Given the description of an element on the screen output the (x, y) to click on. 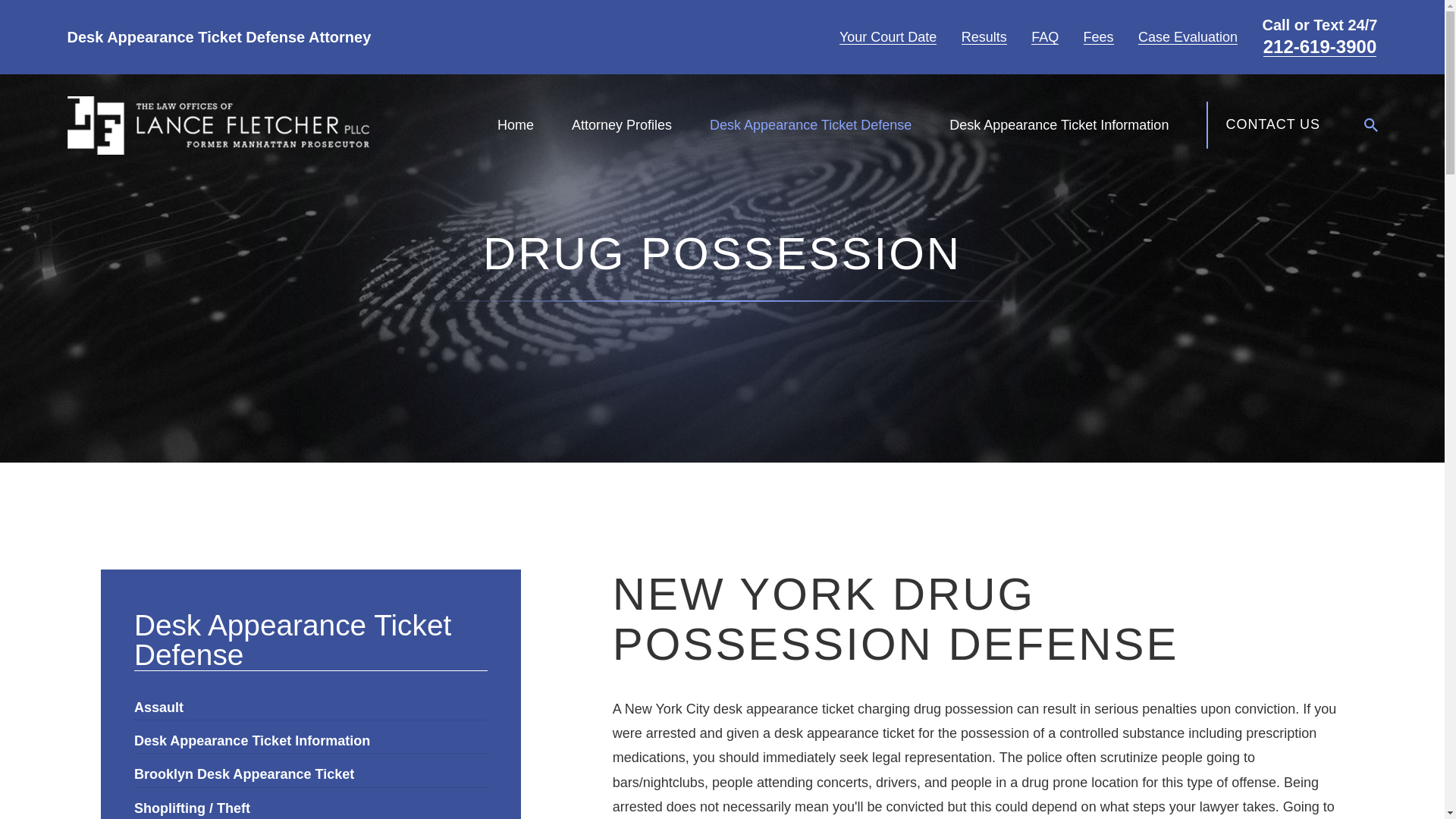
Desk Appearance Ticket Information (1059, 124)
Home (515, 124)
Your Court Date (888, 37)
Case Evaluation (1187, 37)
Attorney Profiles (621, 124)
212-619-3900 (1320, 46)
Desk Appearance Ticket Defense (810, 124)
FAQ (1044, 37)
Fees (1098, 37)
Results (983, 37)
Home (217, 125)
